Given the description of an element on the screen output the (x, y) to click on. 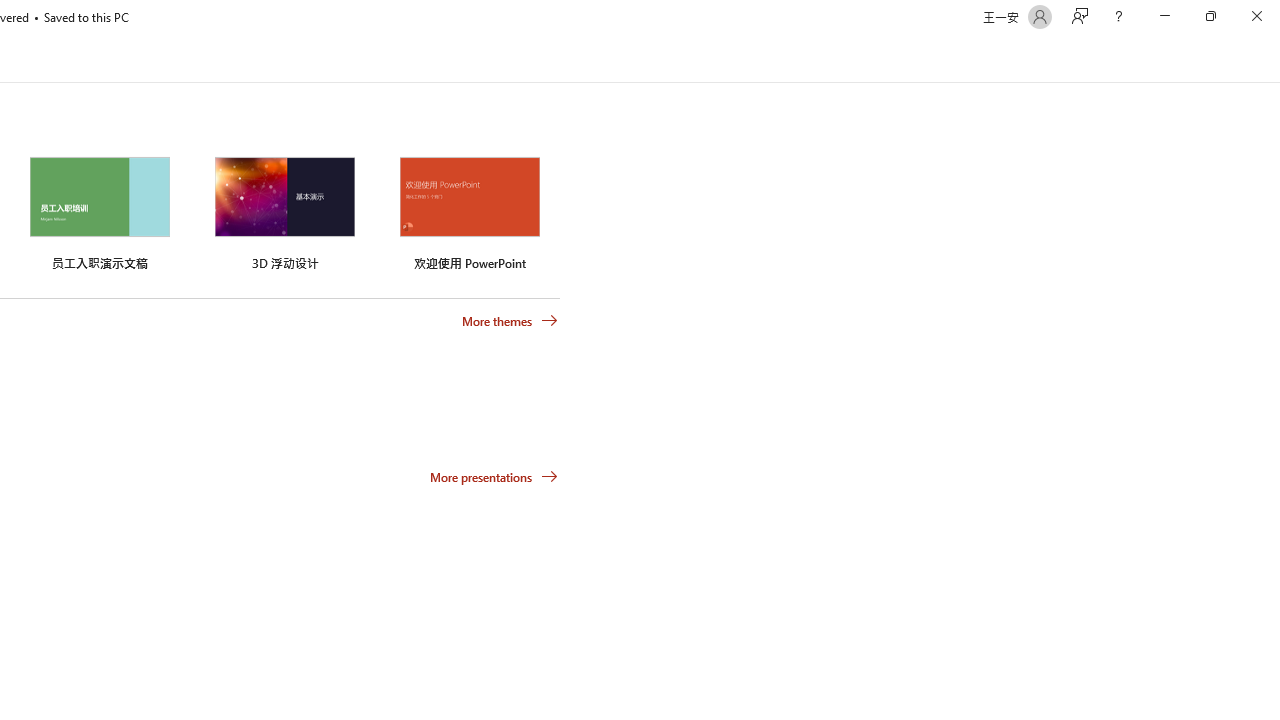
More themes (509, 321)
More presentations (493, 476)
Class: NetUIScrollBar (1271, 59)
